Given the description of an element on the screen output the (x, y) to click on. 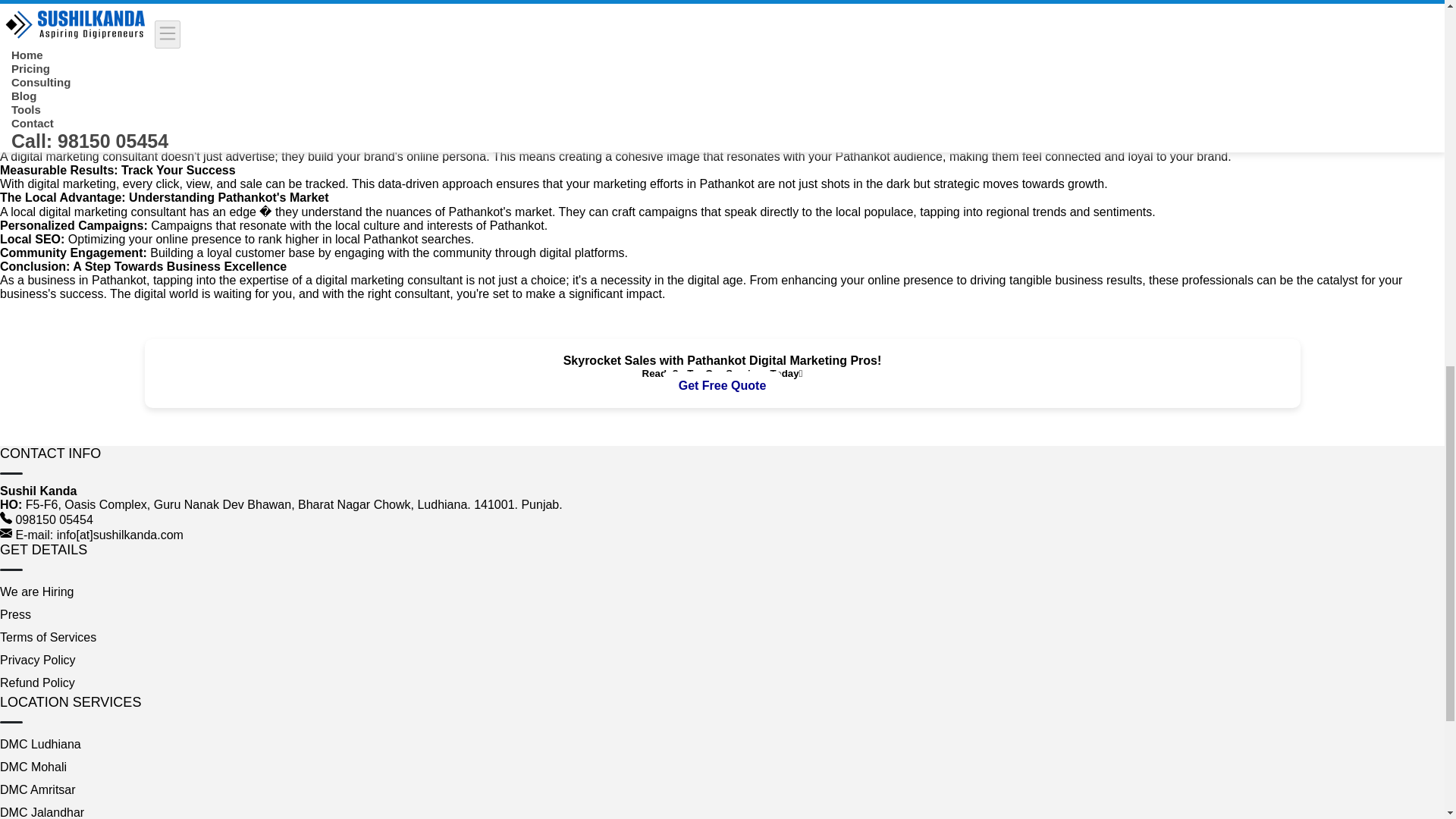
Privacy Policy (37, 659)
Terms of Services (48, 636)
DMC Jalandhar (42, 812)
DMC Mohali (33, 766)
Get Free Quote (722, 385)
Refund Policy (37, 682)
DMC Ludhiana (40, 744)
Press (15, 614)
We are Hiring (37, 591)
DMC Amritsar (37, 789)
